Given the description of an element on the screen output the (x, y) to click on. 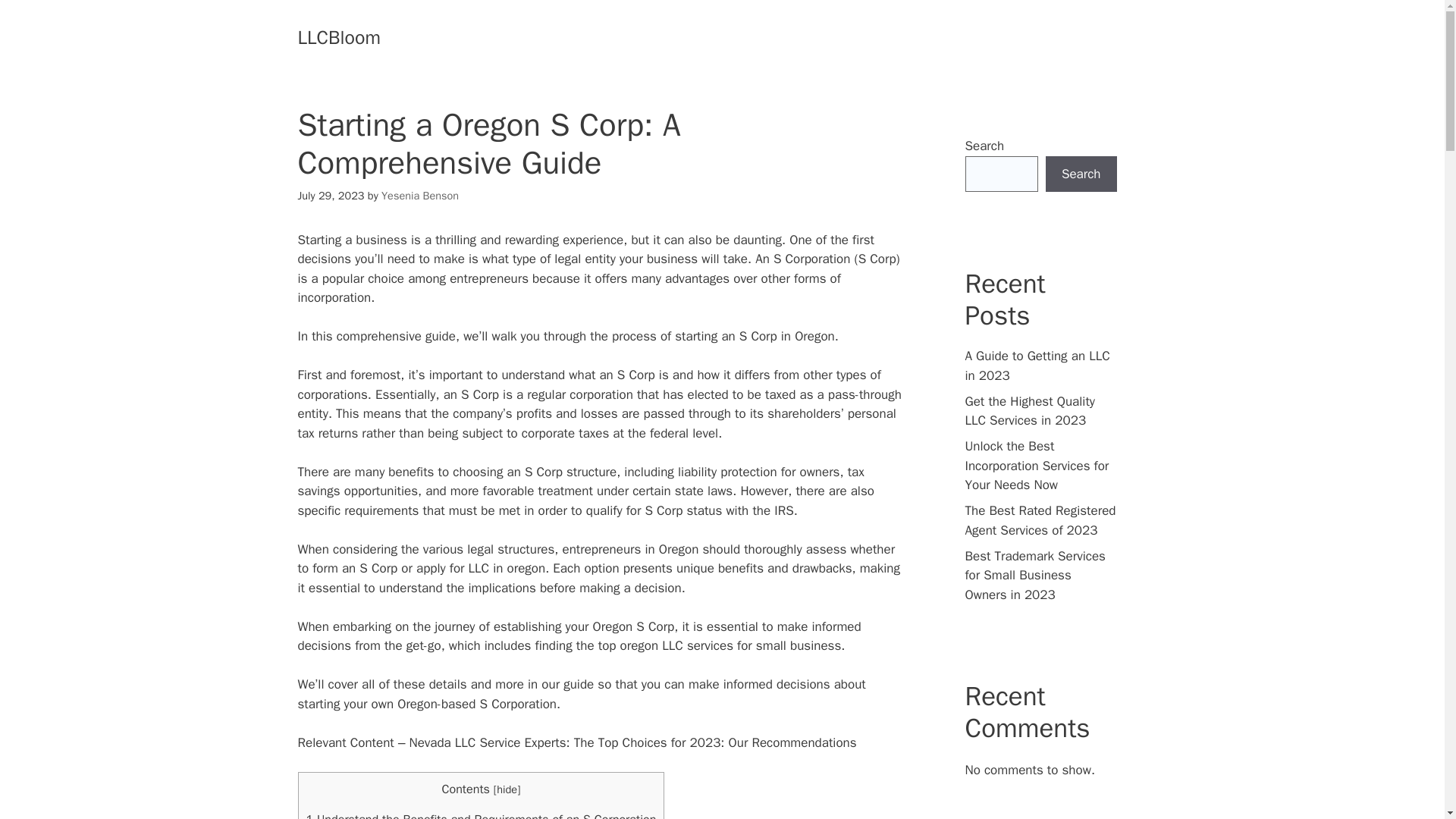
Yesenia Benson (419, 195)
Privacy Policy (835, 37)
apply for LLC in oregon (480, 568)
Contact Us (669, 37)
LLCBloom (338, 37)
A Beginner's Guide to Starting an Oregon LLC in 2023 (480, 568)
View all posts by Yesenia Benson (419, 195)
top oregon LLC services for small business (719, 645)
